Given the description of an element on the screen output the (x, y) to click on. 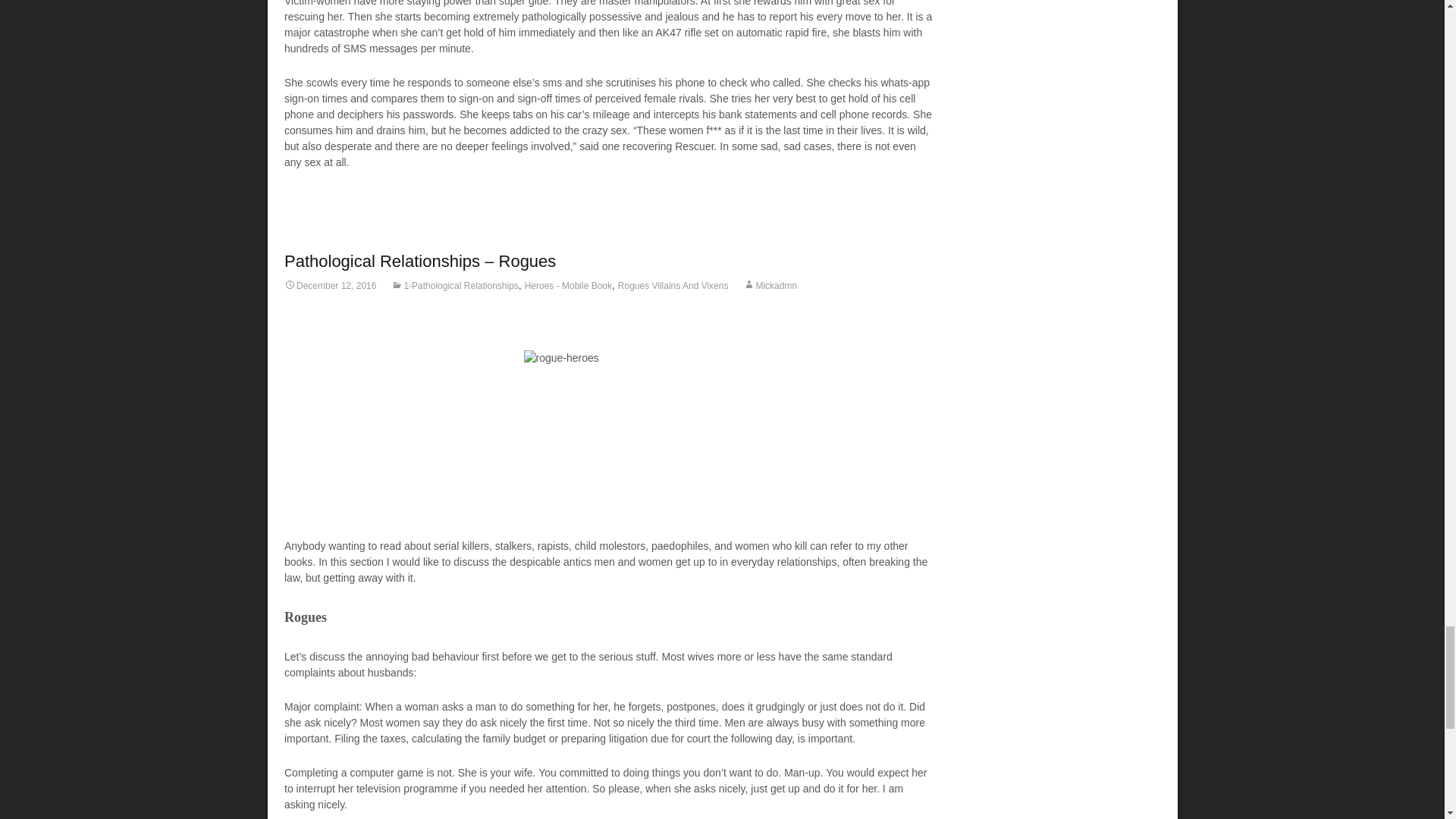
Mickadmn (769, 285)
View all posts by Mickadmn (769, 285)
Heroes - Mobile Book (567, 285)
December 12, 2016 (329, 285)
1-Pathological Relationships (454, 285)
Rogues Villains And Vixens (673, 285)
